Given the description of an element on the screen output the (x, y) to click on. 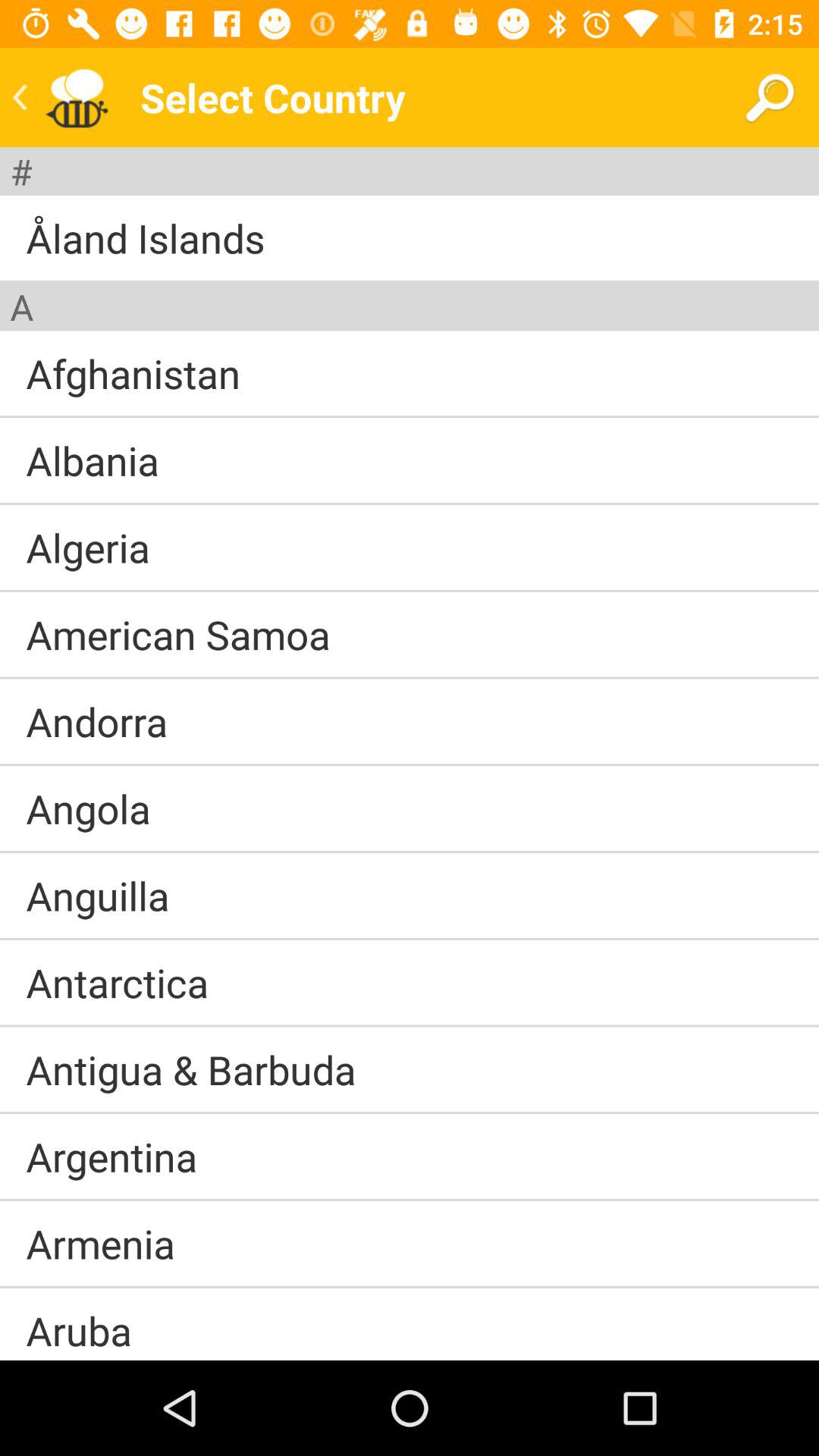
turn off a item (21, 306)
